Given the description of an element on the screen output the (x, y) to click on. 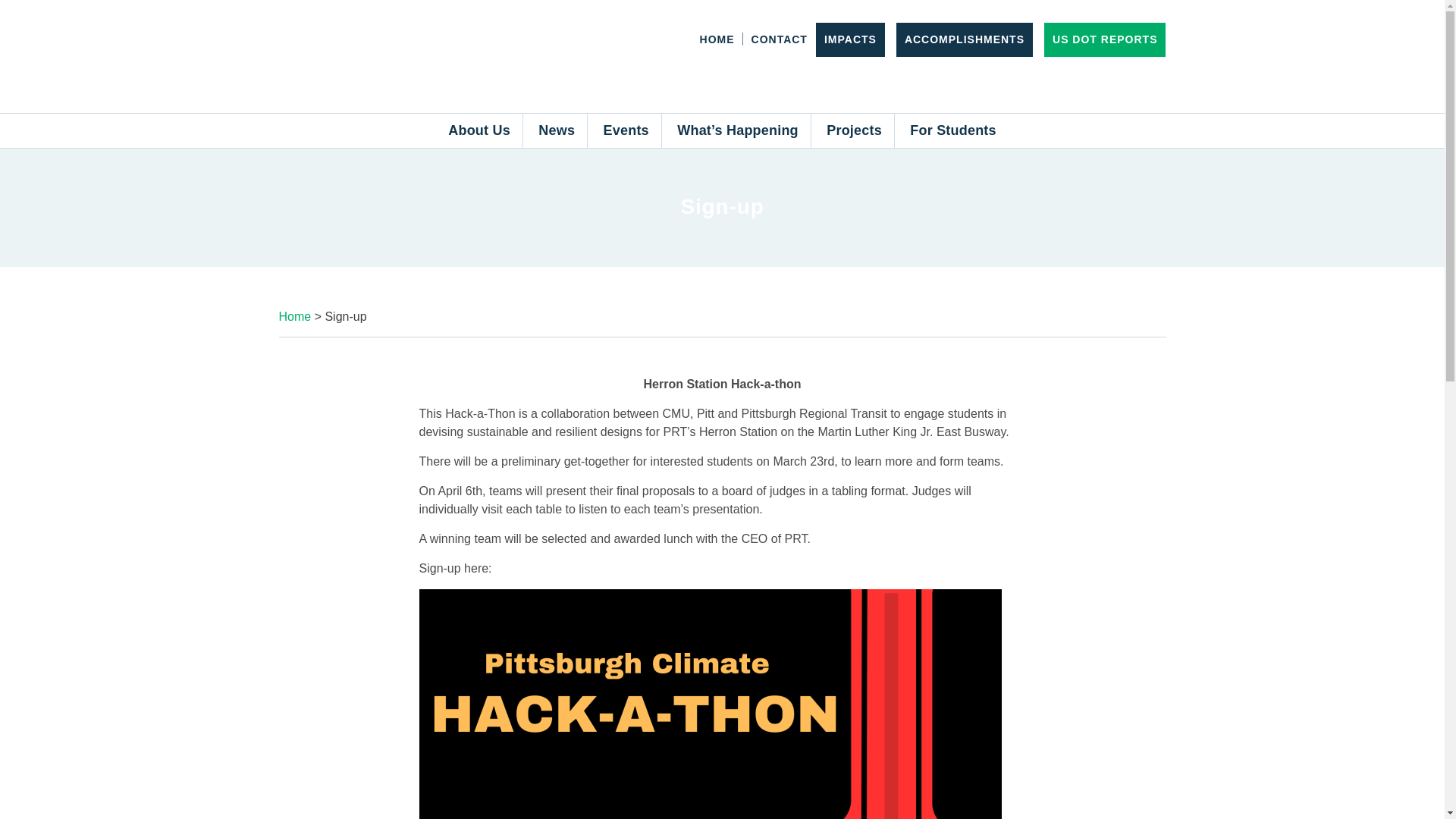
Go to M21. (295, 316)
CONTACT (779, 39)
About Us (478, 130)
IMPACTS (850, 39)
HOME (717, 39)
US DOT REPORTS (1104, 39)
ACCOMPLISHMENTS (964, 39)
